Given the description of an element on the screen output the (x, y) to click on. 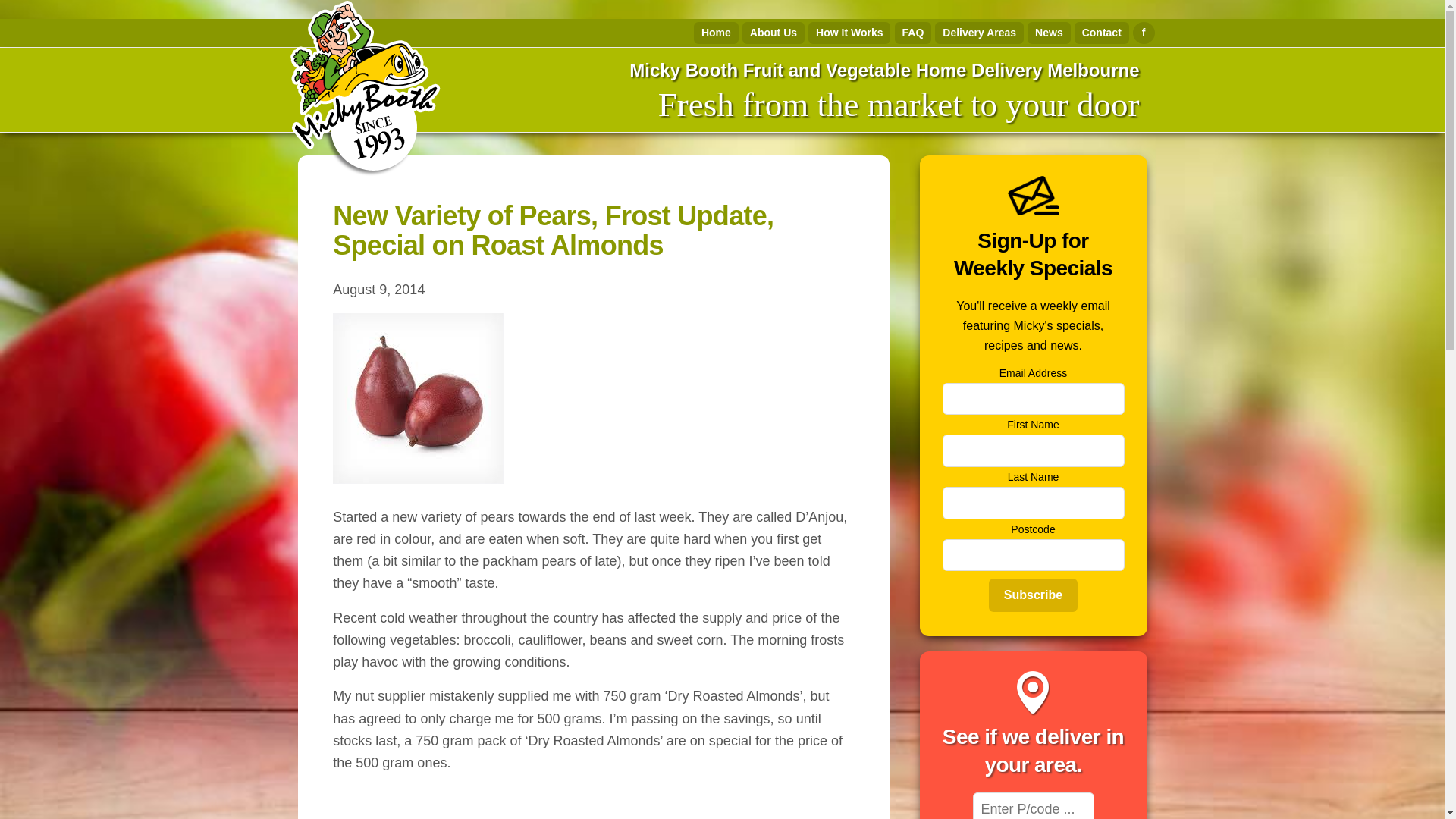
Contact (1101, 33)
About Us (773, 33)
FAQ (913, 33)
Subscribe (1032, 594)
How It Works (848, 33)
News (1048, 33)
Subscribe (1032, 594)
Micky Booth Fruit and Vegetable Home Delivery Melbourne (883, 69)
Delivery Areas (978, 33)
Home (716, 33)
f (1143, 33)
